Given the description of an element on the screen output the (x, y) to click on. 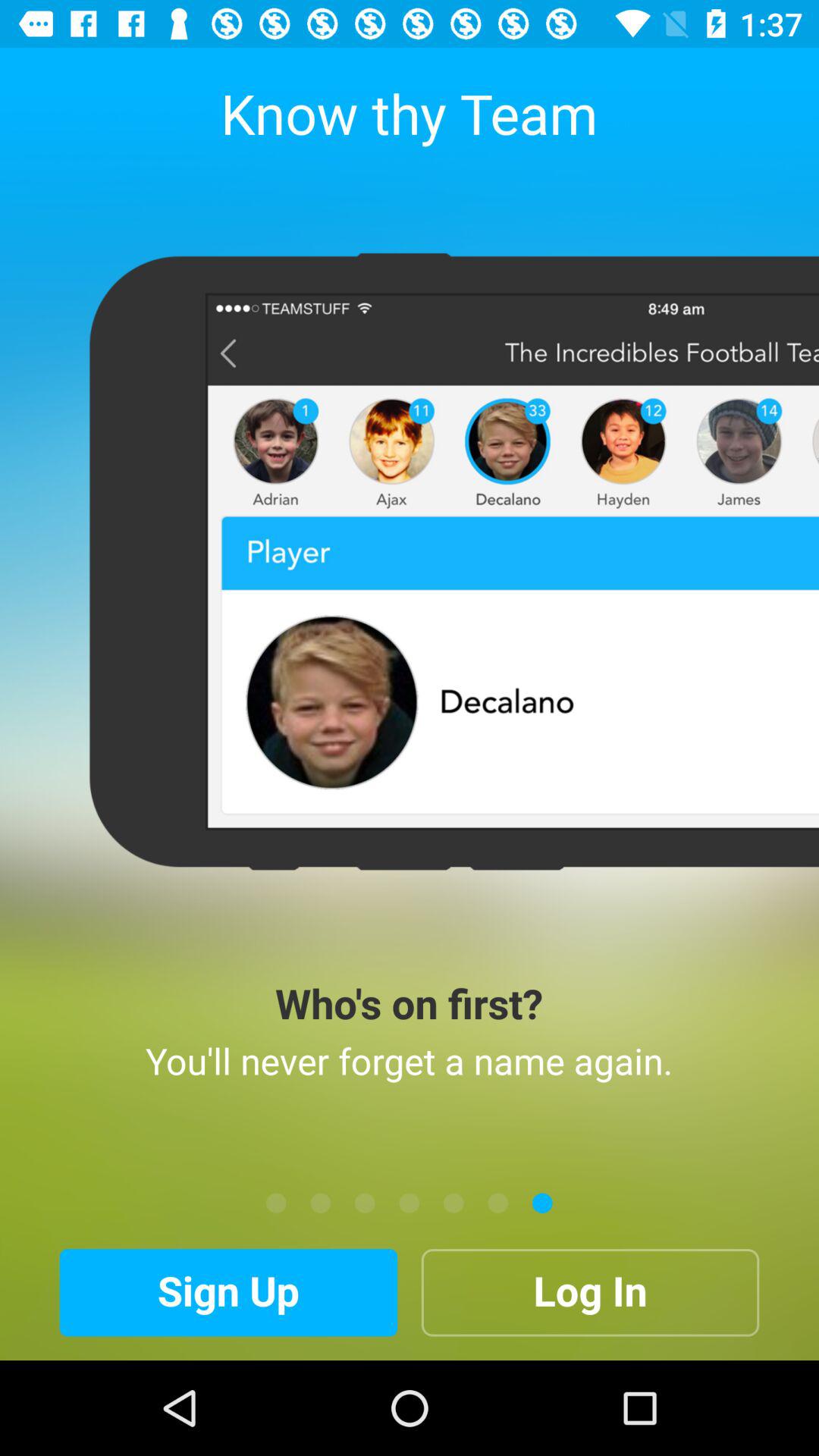
launch icon below the you ll never item (542, 1203)
